Given the description of an element on the screen output the (x, y) to click on. 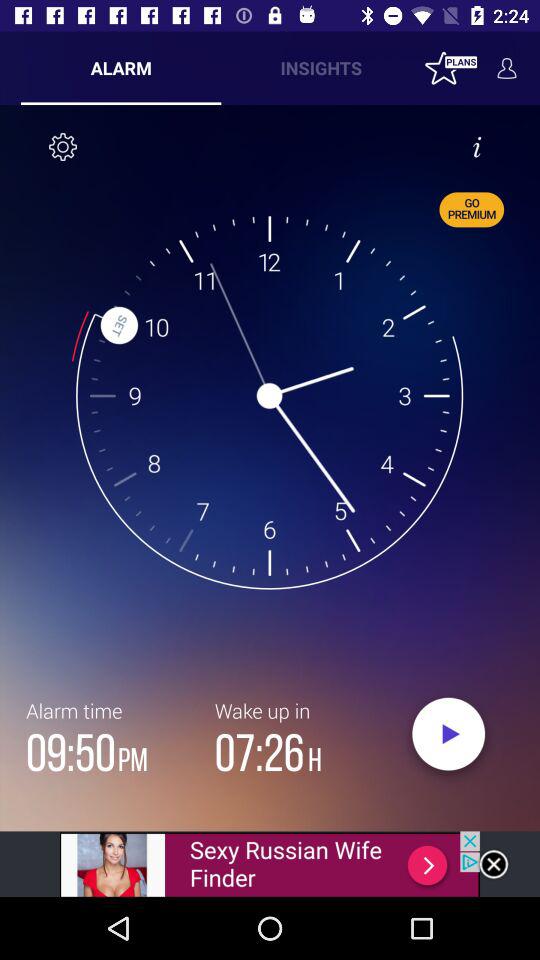
set alarm clock (448, 739)
